Given the description of an element on the screen output the (x, y) to click on. 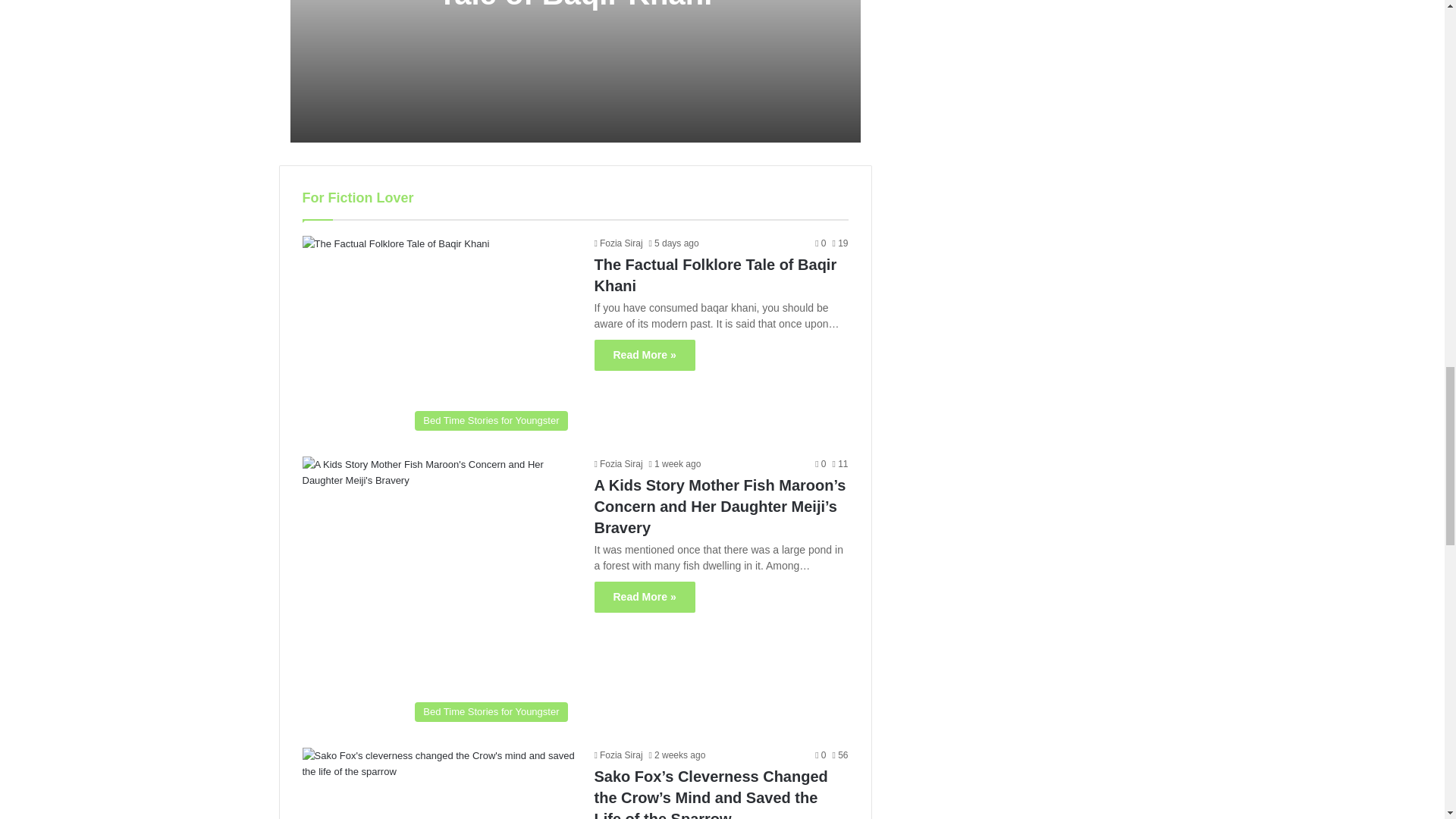
Fozia Siraj (618, 755)
Fozia Siraj (618, 243)
Fozia Siraj (618, 463)
